Given the description of an element on the screen output the (x, y) to click on. 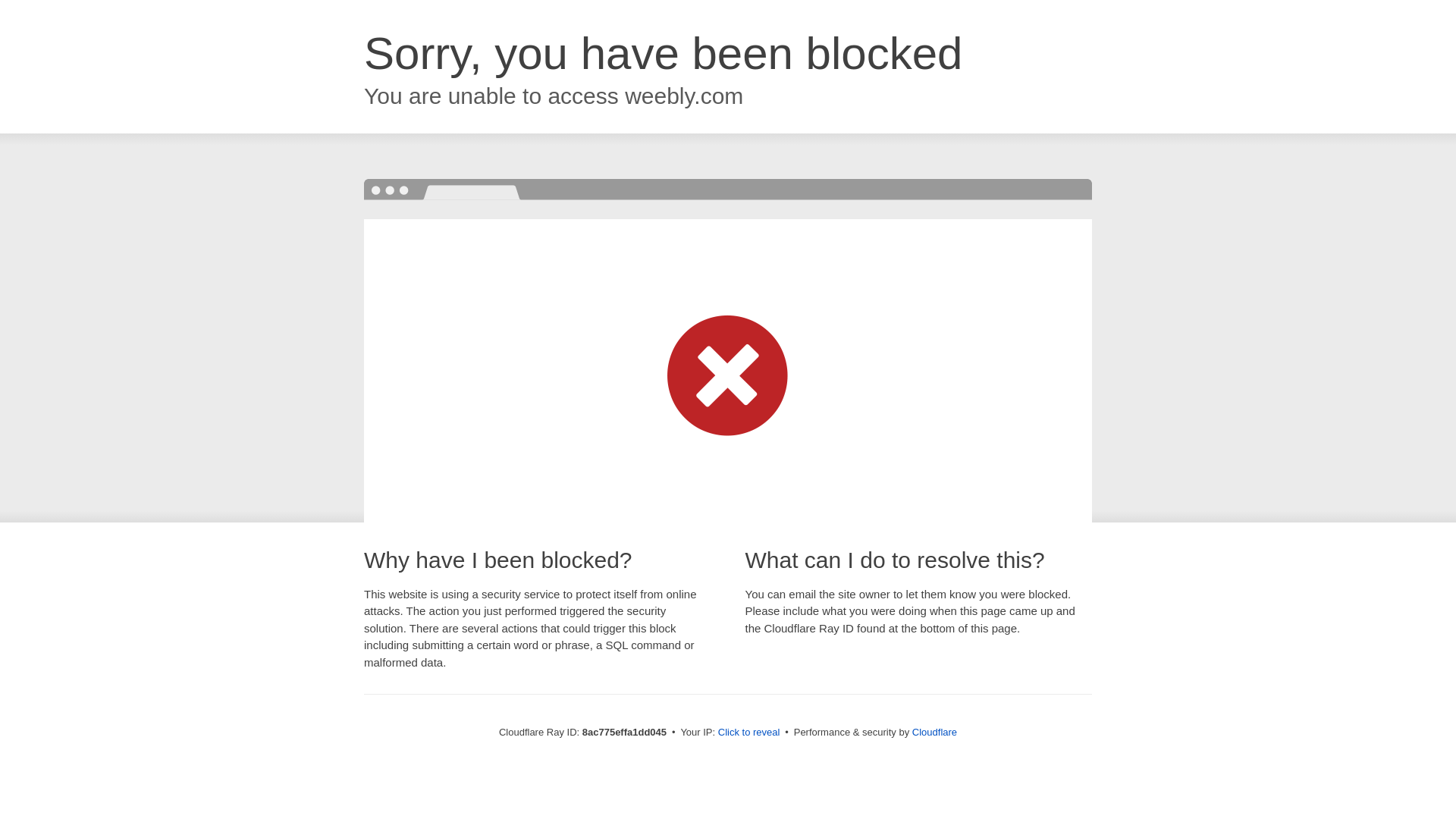
Click to reveal (748, 732)
Cloudflare (934, 731)
